Given the description of an element on the screen output the (x, y) to click on. 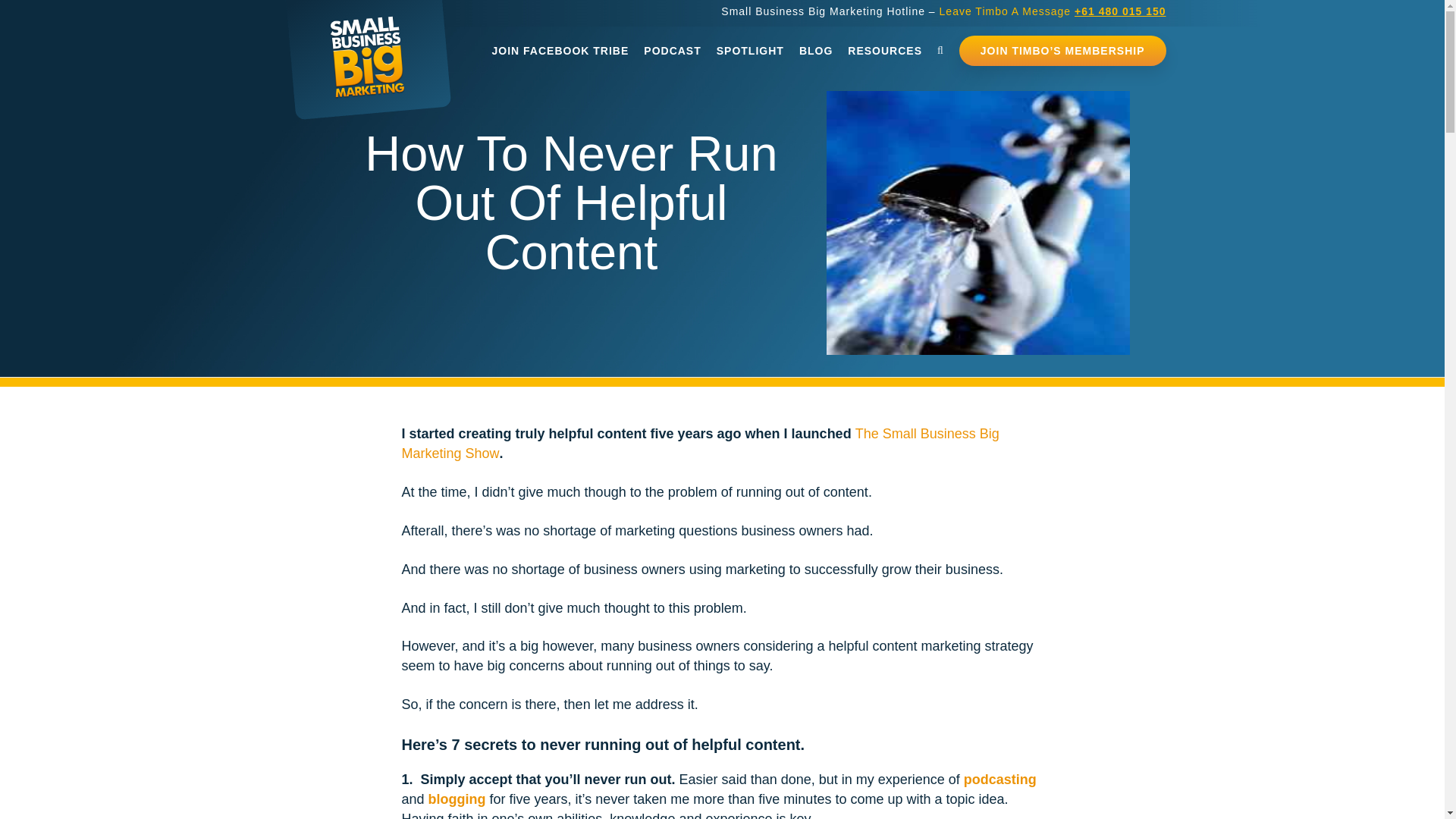
RESOURCES (885, 51)
SPOTLIGHT (750, 51)
PODCAST (671, 51)
JOIN FACEBOOK TRIBE (559, 51)
BLOG (816, 51)
